Given the description of an element on the screen output the (x, y) to click on. 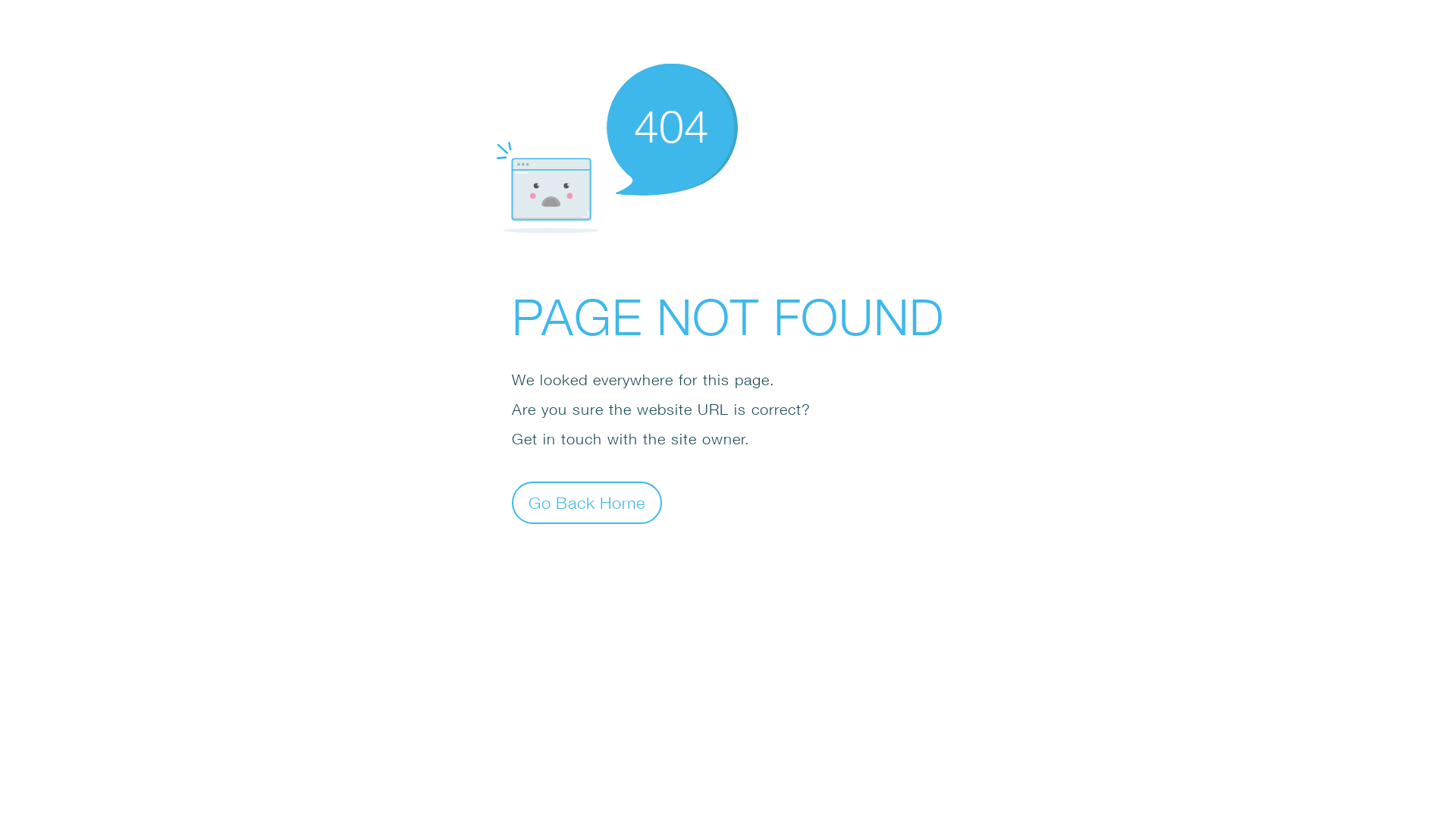
Go Back Home Element type: text (586, 502)
